Given the description of an element on the screen output the (x, y) to click on. 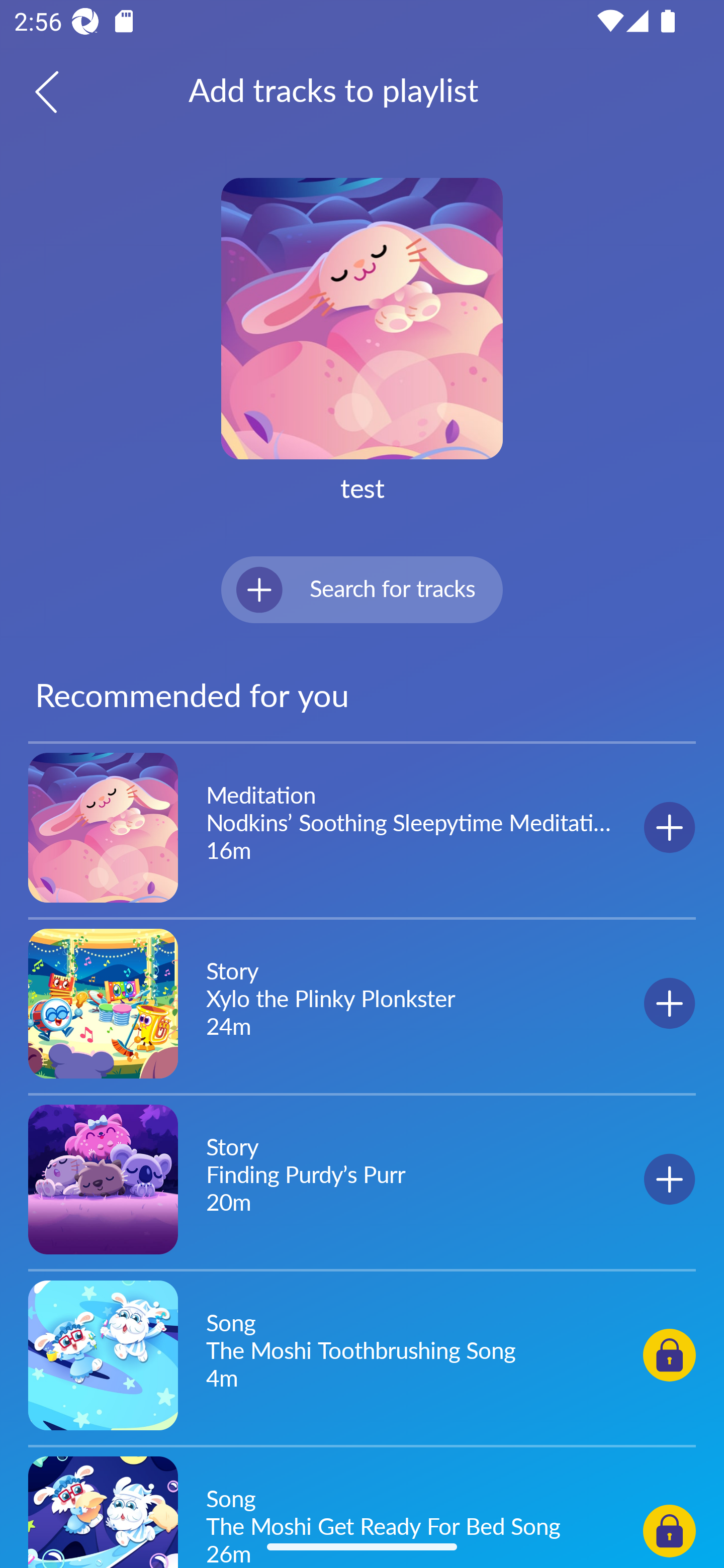
icon Search for tracks (361, 589)
Story Xylo the Plinky Plonkster 24m (361, 1003)
Story Finding Purdy’s Purr 20m (361, 1179)
Song The Moshi Toothbrushing Song 4m (361, 1354)
Song The Moshi Get Ready For Bed Song 26m (361, 1509)
